Given the description of an element on the screen output the (x, y) to click on. 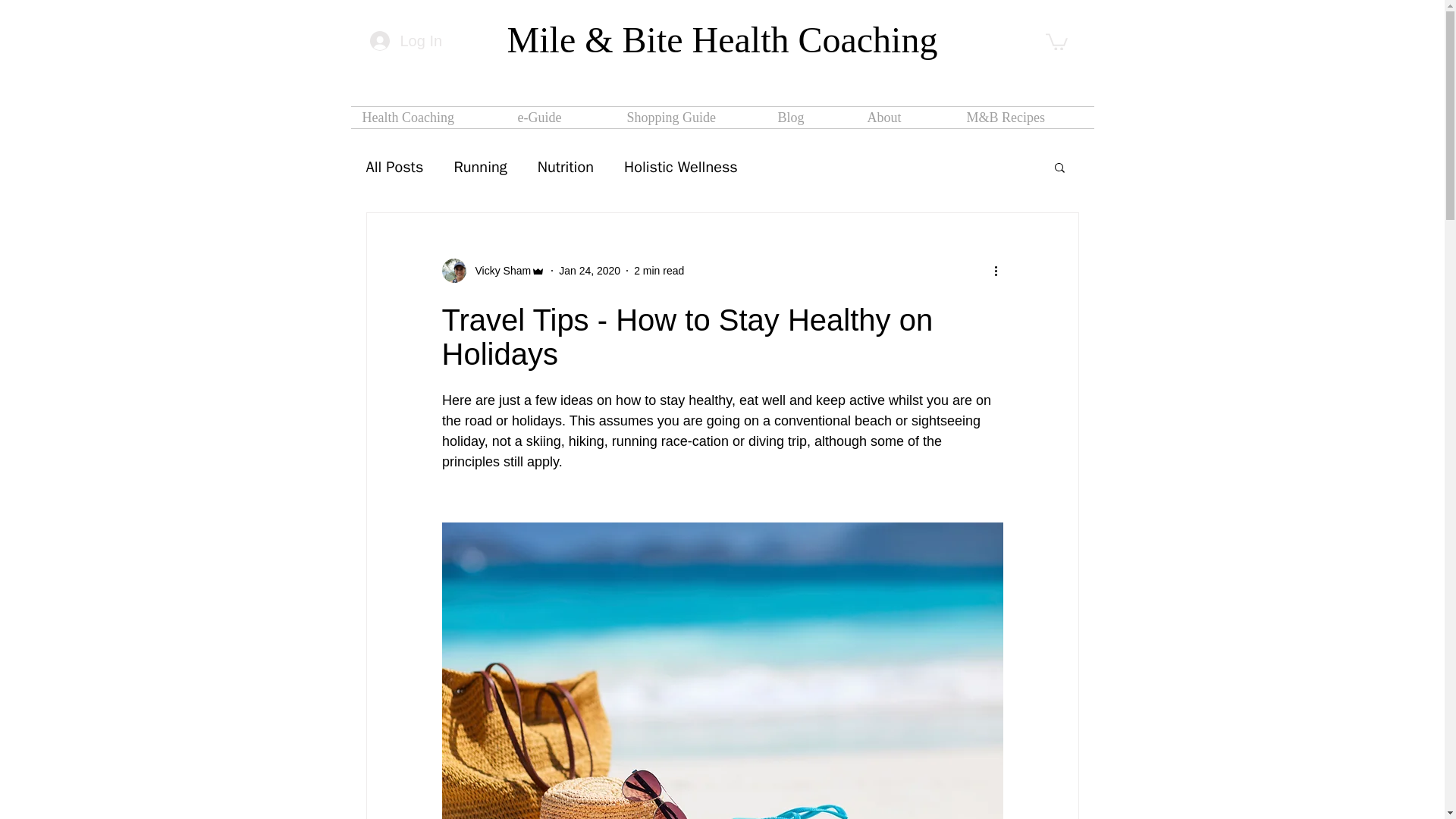
Vicky Sham (492, 270)
2 min read (658, 269)
Blog (810, 117)
Vicky Sham (498, 270)
About (905, 117)
Nutrition (565, 166)
Jan 24, 2020 (589, 269)
Shopping Guide (691, 117)
Log In (404, 40)
Holistic Wellness (681, 166)
All Posts (394, 166)
Running (479, 166)
Health Coaching (427, 117)
e-Guide (560, 117)
